Given the description of an element on the screen output the (x, y) to click on. 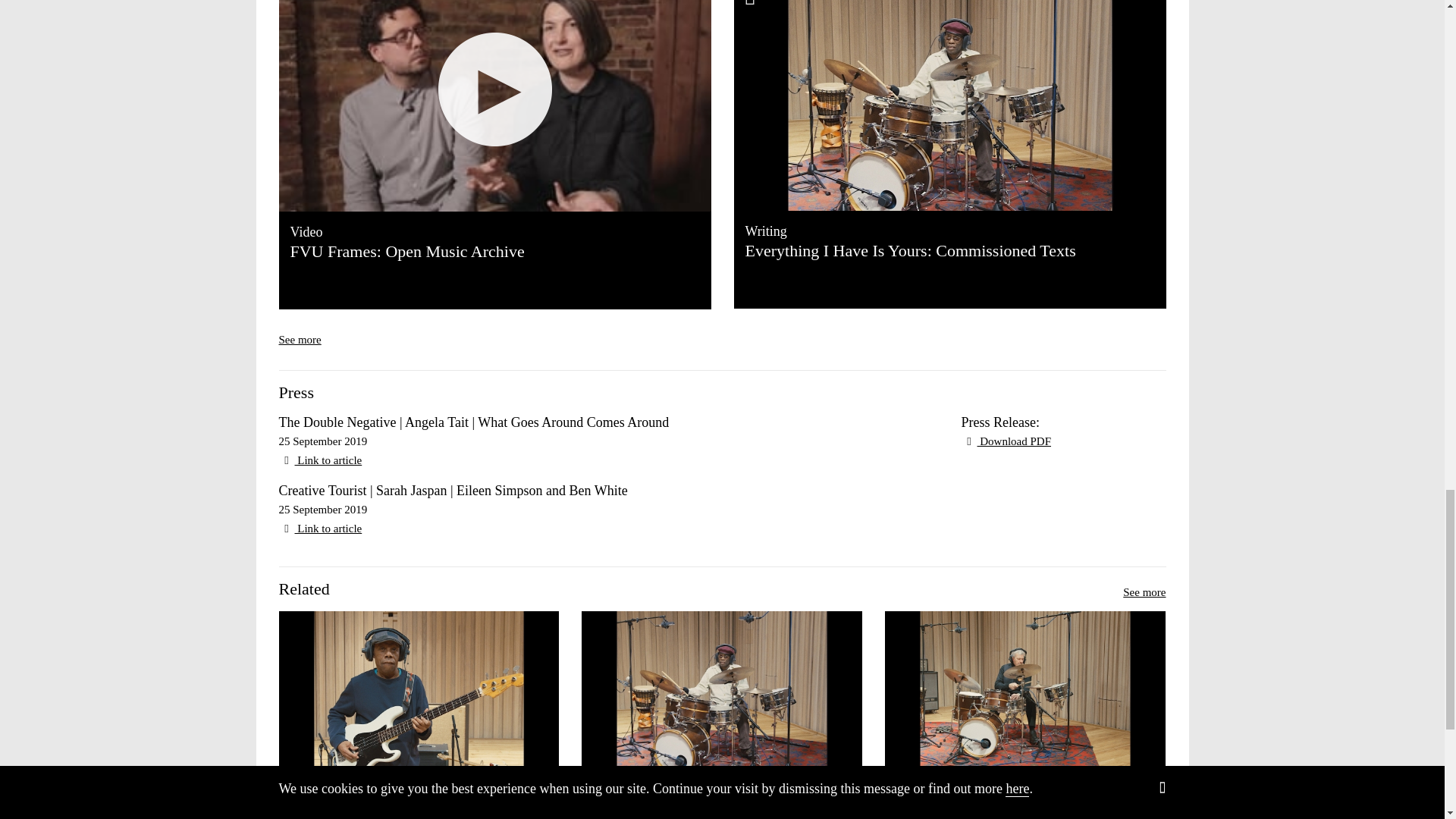
Everything I Have Is Yours: Commissioned Texts (949, 105)
Everything I Have Is Yours: Commissioned Texts (909, 250)
FVU Frames: Open Music Archive (493, 251)
Everything I Have Is Yours: Commissioned Texts (909, 250)
FVU Frames: Open Music Archive (495, 105)
FVU Frames: Open Music Archive (493, 251)
